Given the description of an element on the screen output the (x, y) to click on. 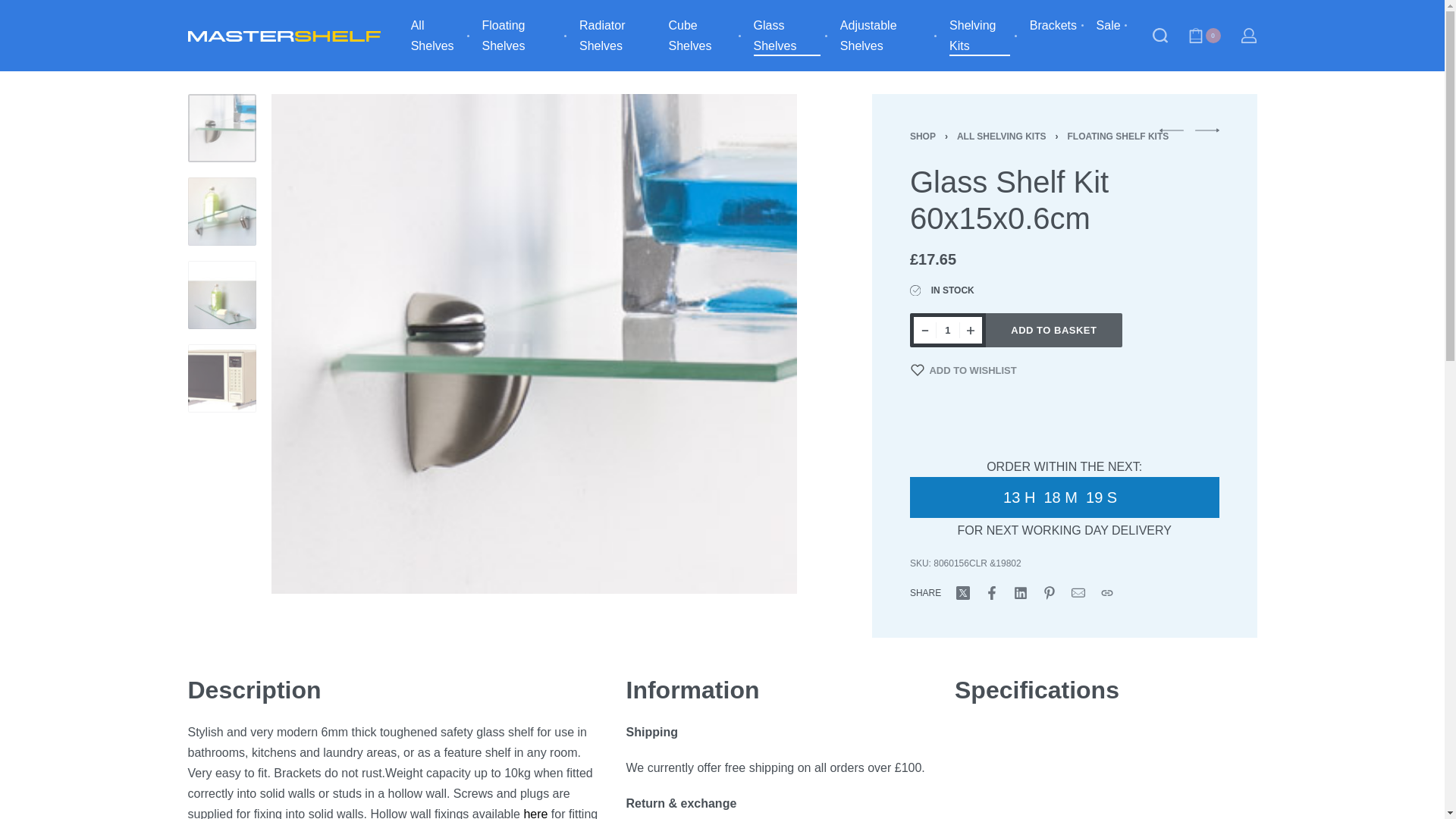
1 (947, 329)
Floating Shelves (526, 35)
All Shelves (442, 35)
